Given the description of an element on the screen output the (x, y) to click on. 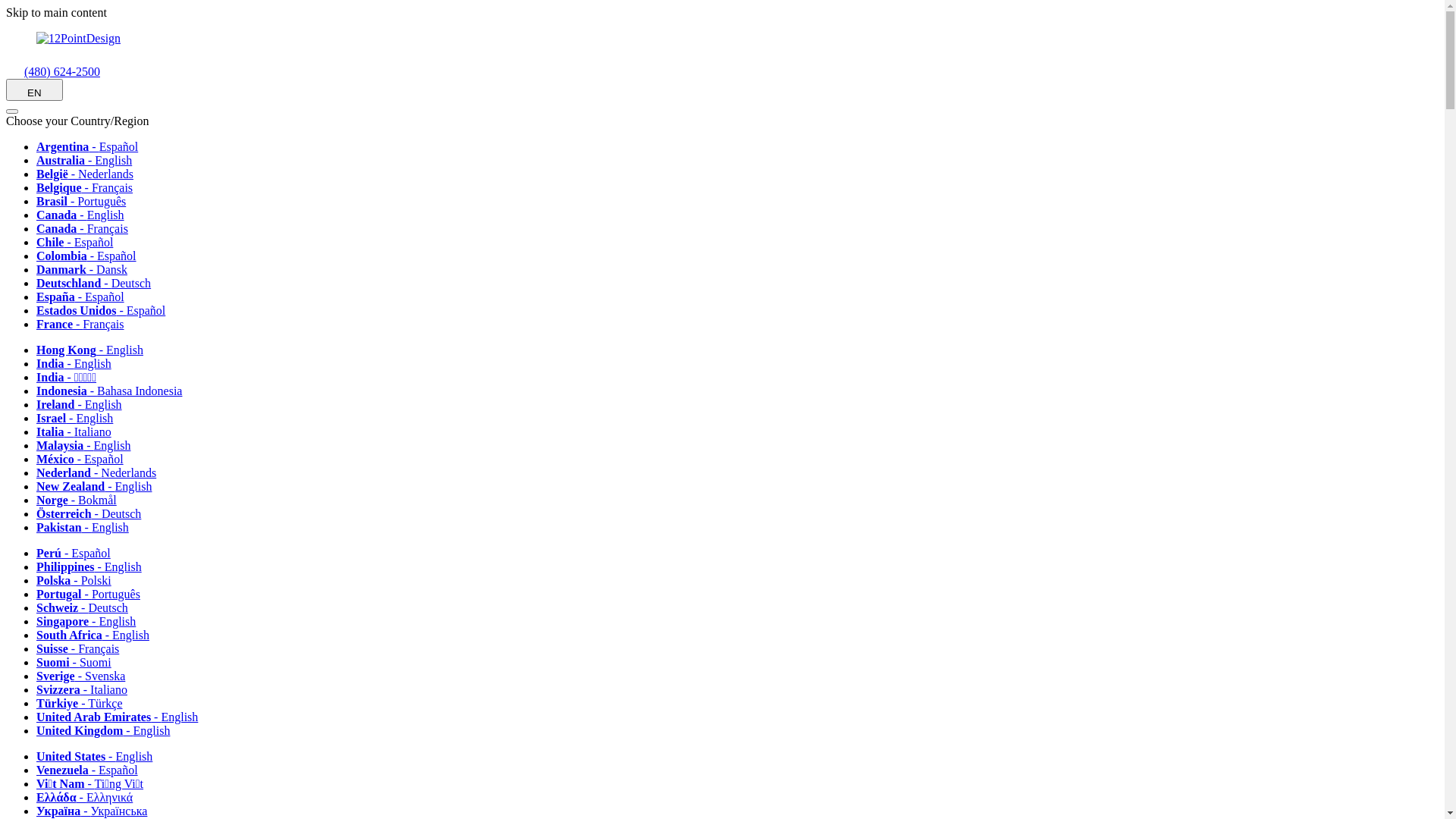
Singapore - English Element type: text (91, 621)
Australia - English Element type: text (89, 159)
(480) 624-2500 Element type: text (53, 71)
Polska - Polski Element type: text (79, 580)
Suomi - Suomi Element type: text (79, 661)
Israel - English Element type: text (79, 417)
Ireland - English Element type: text (84, 404)
EN Element type: text (34, 89)
Hong Kong - English Element type: text (94, 349)
Italia - Italiano Element type: text (79, 431)
Danmark - Dansk Element type: text (87, 269)
New Zealand - English Element type: text (99, 486)
Philippines - English Element type: text (94, 566)
Skip to main content Element type: text (56, 12)
Indonesia - Bahasa Indonesia Element type: text (114, 390)
United Kingdom - English Element type: text (108, 730)
Sverige - Svenska Element type: text (85, 675)
Svizzera - Italiano Element type: text (87, 689)
United Arab Emirates - English Element type: text (122, 716)
Nederland - Nederlands Element type: text (101, 472)
India - English Element type: text (79, 363)
Schweiz - Deutsch Element type: text (87, 607)
Contact Us Element type: hover (15, 71)
United States - English Element type: text (99, 755)
South Africa - English Element type: text (98, 634)
Deutschland - Deutsch Element type: text (98, 282)
Malaysia - English Element type: text (88, 445)
Canada - English Element type: text (85, 214)
Pakistan - English Element type: text (87, 526)
